Given the description of an element on the screen output the (x, y) to click on. 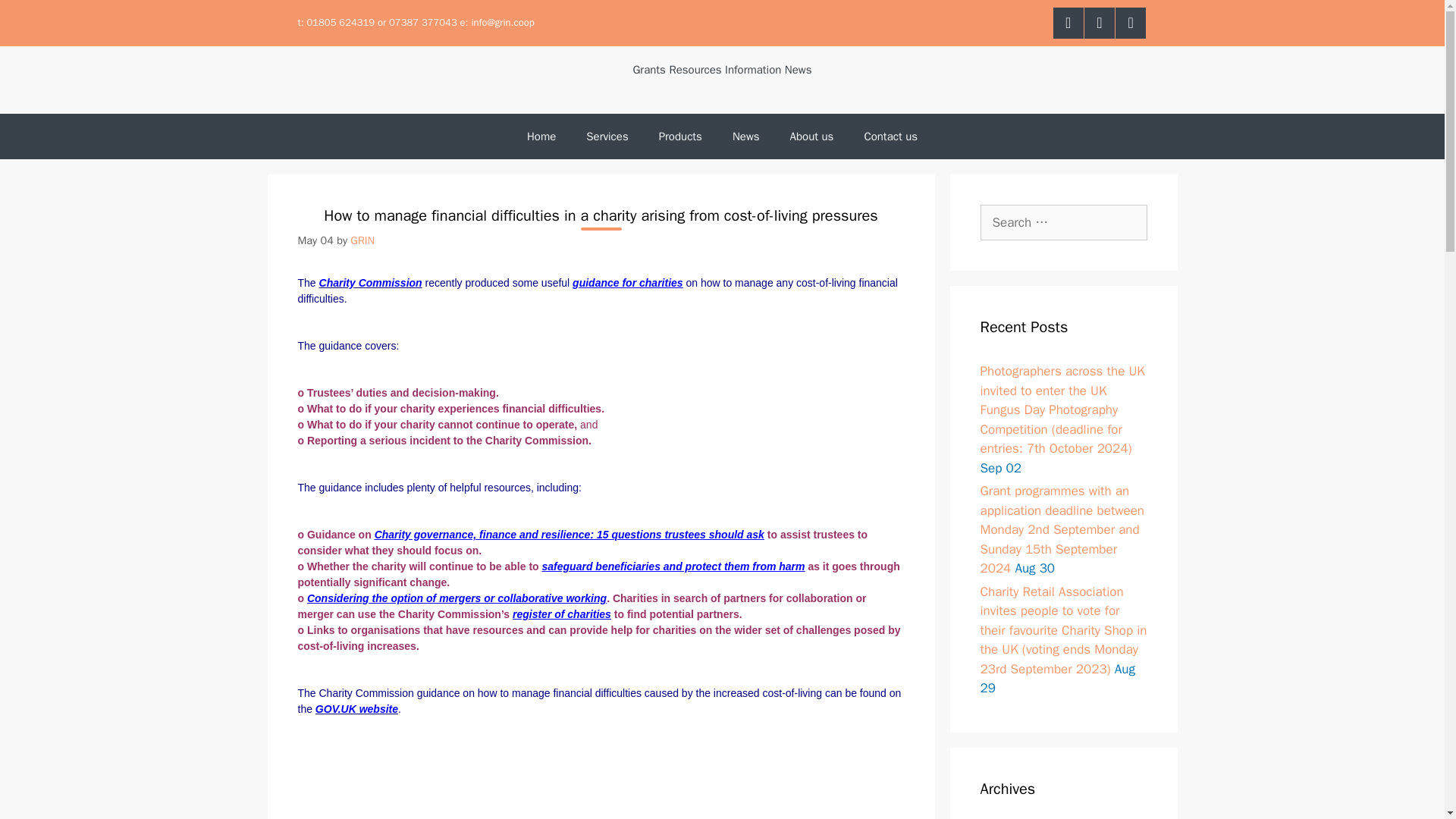
View all posts by GRIN (362, 240)
safeguard beneficiaries and protect them from harm (673, 566)
About us (811, 135)
Contact us (890, 135)
Facebook (1067, 22)
register of charities (561, 613)
Search for: (1063, 222)
Twitter (1099, 22)
Services (606, 135)
